Given the description of an element on the screen output the (x, y) to click on. 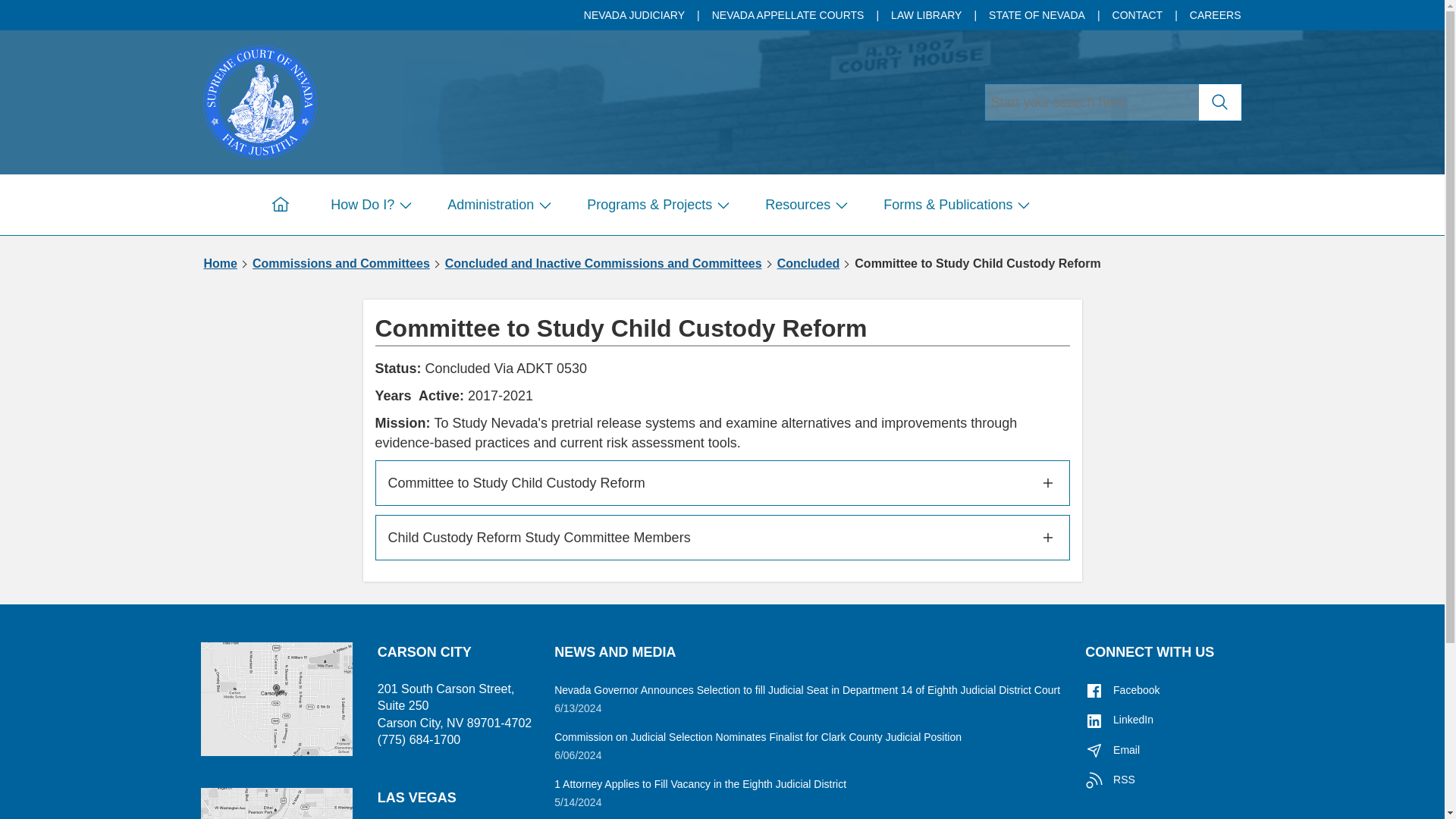
Administrative Office of the Courts  (260, 100)
LinkedIn Icon (1093, 720)
Show submenu for Pages (544, 204)
Show submenu for Pages (405, 204)
CONTACT (1138, 15)
STATE OF NEVADA (1037, 15)
How Do I? (368, 204)
Home (280, 204)
NEVADA JUDICIARY (636, 15)
